Given the description of an element on the screen output the (x, y) to click on. 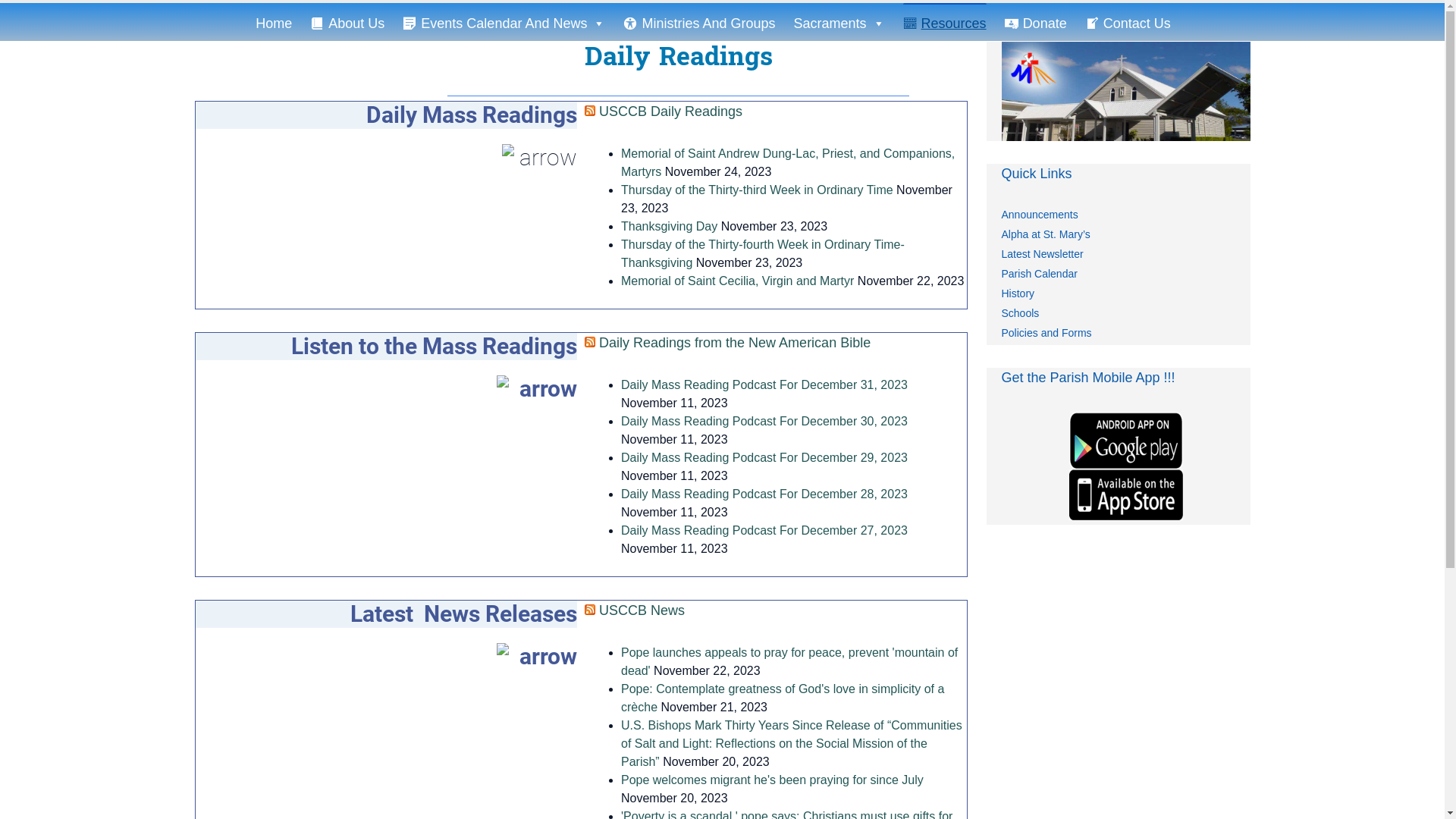
Home Element type: text (273, 21)
Thanksgiving Day Element type: text (669, 225)
About Us Element type: text (347, 21)
Daily Mass Reading Podcast For December 28, 2023 Element type: text (764, 493)
History Element type: text (1017, 293)
Get the Parish Mobile App !!! Element type: hover (1126, 467)
Events Calendar And News Element type: text (503, 21)
Thursday of the Thirty-third Week in Ordinary Time Element type: text (757, 189)
Latest Newsletter Element type: text (1041, 253)
Pope welcomes migrant he's been praying for since July Element type: text (772, 779)
Daily Readings from the New American Bible Element type: text (734, 342)
Memorial of Saint Cecilia, Virgin and Martyr Element type: text (737, 280)
Contact Us Element type: text (1127, 21)
Sacraments Element type: text (838, 21)
Policies and Forms Element type: text (1046, 332)
USCCB News Element type: text (641, 610)
Daily Mass Reading Podcast For December 27, 2023 Element type: text (764, 530)
Donate Element type: text (1035, 21)
Daily Mass Reading Podcast For December 31, 2023 Element type: text (764, 384)
Daily Mass Reading Podcast For December 29, 2023 Element type: text (764, 457)
Daily Mass Reading Podcast For December 30, 2023 Element type: text (764, 420)
USCCB Daily Readings Element type: text (670, 111)
Schools Element type: text (1019, 313)
Announcements Element type: text (1039, 214)
Ministries And Groups Element type: text (699, 21)
Resources Element type: text (944, 21)
Parish Calendar Element type: text (1038, 273)
